Given the description of an element on the screen output the (x, y) to click on. 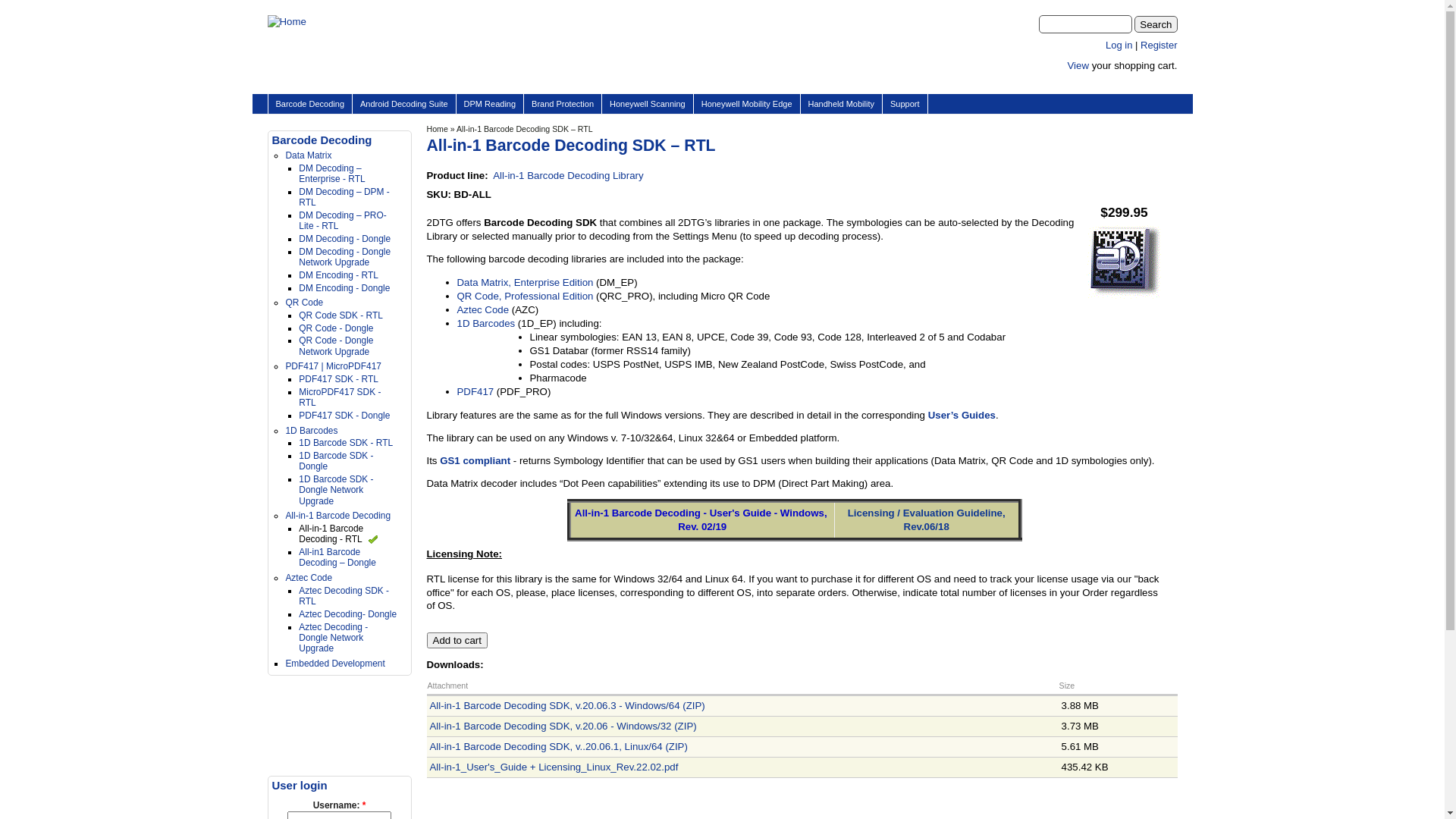
QR Code Element type: text (304, 302)
Data Matrix Element type: text (308, 155)
  Element type: text (1170, 83)
Log in Element type: text (1118, 44)
Embedded Development Element type: text (334, 663)
Aztec Code Element type: text (482, 309)
DM Encoding - RTL Element type: text (338, 274)
1D Barcodes Element type: text (311, 430)
Aztec Decoding SDK - RTL Element type: text (343, 595)
DM Encoding - Dongle Element type: text (343, 287)
QR Code, Professional Edition Element type: text (524, 295)
1D Barcode SDK - Dongle Element type: text (335, 460)
QR Code - Dongle Network Upgrade Element type: text (335, 345)
MicroPDF417 SDK - RTL Element type: text (339, 396)
QR Code SDK - RTL Element type: text (340, 315)
PDF417 | MicroPDF417 Element type: text (333, 365)
  Element type: text (1155, 83)
Aztec Decoding- Dongle Element type: text (347, 613)
PDF417 Element type: text (474, 391)
DM Decoding - Dongle Element type: text (344, 238)
  Element type: text (1107, 83)
View Element type: text (1077, 65)
Data Matrix, Enterprise Edition Element type: text (524, 282)
DPM Reading Element type: text (489, 103)
Aztec Code Element type: text (308, 577)
DM Decoding - Dongle Network Upgrade Element type: text (344, 256)
All-in-1 Barcode Decoding - RTL Element type: text (337, 533)
Add to cart Element type: text (456, 640)
Barcode Decoding Element type: text (310, 103)
Honeywell Mobility Edge Element type: text (746, 103)
  Element type: text (1138, 83)
Honeywell Scanning Element type: text (647, 103)
All-in-1 Barcode Decoding SDK, v..20.06.1, Linux/64 (ZIP) Element type: text (558, 746)
All-in-1 Barcode Decoding SDK Element type: hover (1123, 295)
1D Barcode SDK - RTL Element type: text (345, 442)
Support Element type: text (904, 103)
Enter the terms you wish to search for. Element type: hover (1085, 24)
QR Code - Dongle Element type: text (335, 328)
All-in-1_User's_Guide + Licensing_Linux_Rev.22.02.pdf Element type: text (553, 766)
Android Decoding Suite Element type: text (403, 103)
Home Element type: hover (285, 21)
Aztec Decoding - Dongle Network Upgrade Element type: text (332, 637)
1D Barcode SDK - Dongle Network Upgrade Element type: text (335, 489)
Home Element type: text (436, 128)
  Element type: text (1123, 83)
Handheld Mobility Element type: text (840, 103)
All-in-1 Barcode Decoding SDK, v.20.06.3 - Windows/64 (ZIP) Element type: text (566, 705)
Search Element type: text (1155, 23)
Brand Protection Element type: text (562, 103)
All-in-1 Barcode Decoding SDK, v.20.06 - Windows/32 (ZIP) Element type: text (562, 725)
1D Barcodes Element type: text (485, 323)
All-in-1 Barcode Decoding Library Element type: text (567, 175)
GS1 compliant Element type: text (474, 460)
PDF417 SDK - RTL Element type: text (338, 378)
All-in-1 Barcode Decoding Element type: text (337, 515)
PDF417 SDK - Dongle Element type: text (343, 415)
All-in-1 Barcode Decoding SDK Element type: hover (1123, 260)
Register Element type: text (1158, 44)
Licensing / Evaluation Guideline, Rev.06/18 Element type: text (926, 519)
  Element type: text (1091, 83)
